Given the description of an element on the screen output the (x, y) to click on. 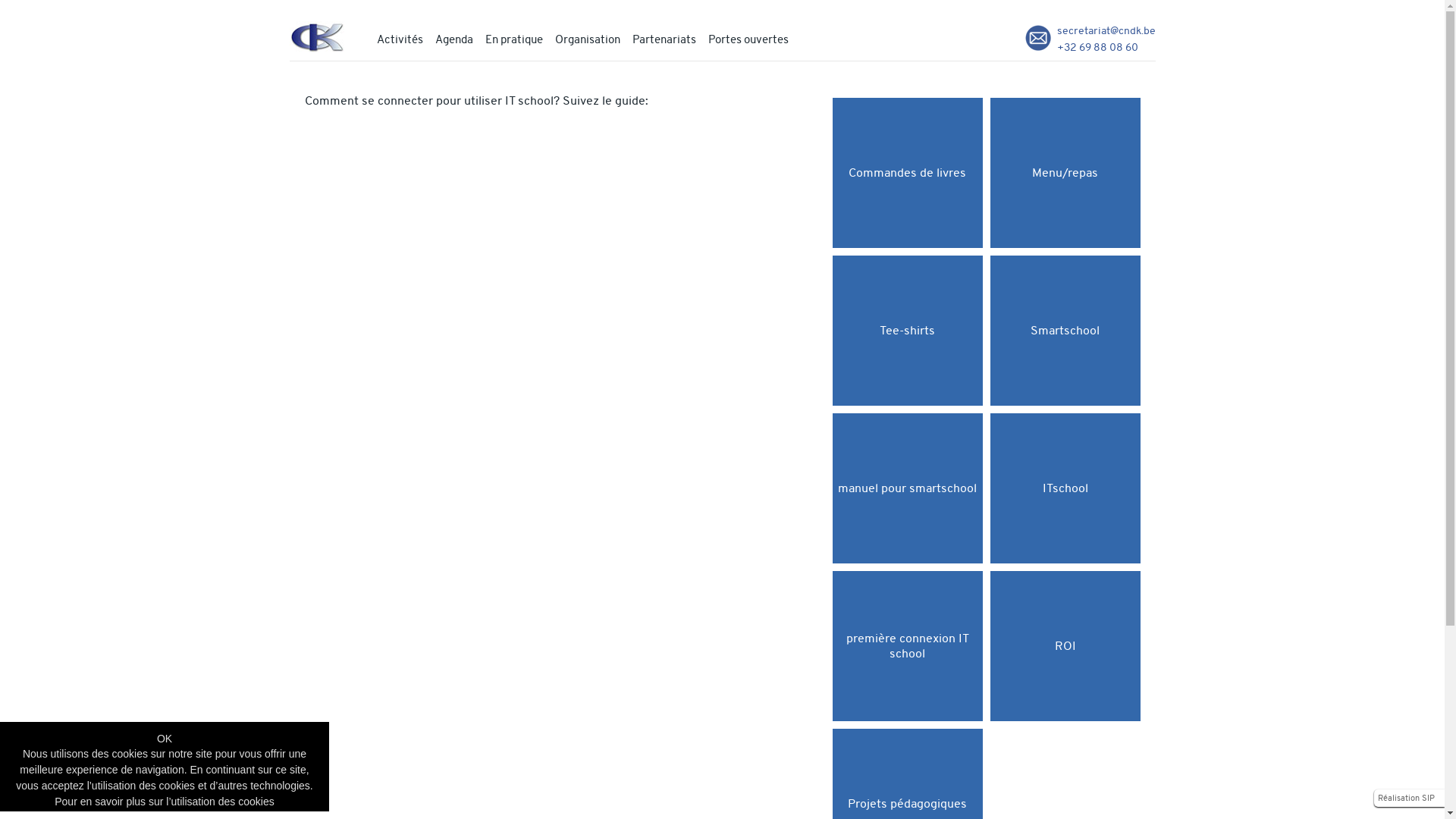
Commandes de livres Element type: text (907, 172)
ITschool Element type: text (1065, 488)
Smartschool Element type: text (1065, 330)
Menu/repas Element type: text (1065, 172)
Tee-shirts Element type: text (907, 330)
En pratique Element type: text (513, 39)
secretariat@cndk.be Element type: text (1106, 30)
+32 69 88 08 60 Element type: text (1097, 46)
Portes ouvertes Element type: text (748, 39)
Partenariats Element type: text (664, 39)
manuel pour smartschool Element type: text (907, 488)
ROI Element type: text (1065, 646)
Organisation Element type: text (587, 39)
Agenda Element type: text (454, 39)
